Given the description of an element on the screen output the (x, y) to click on. 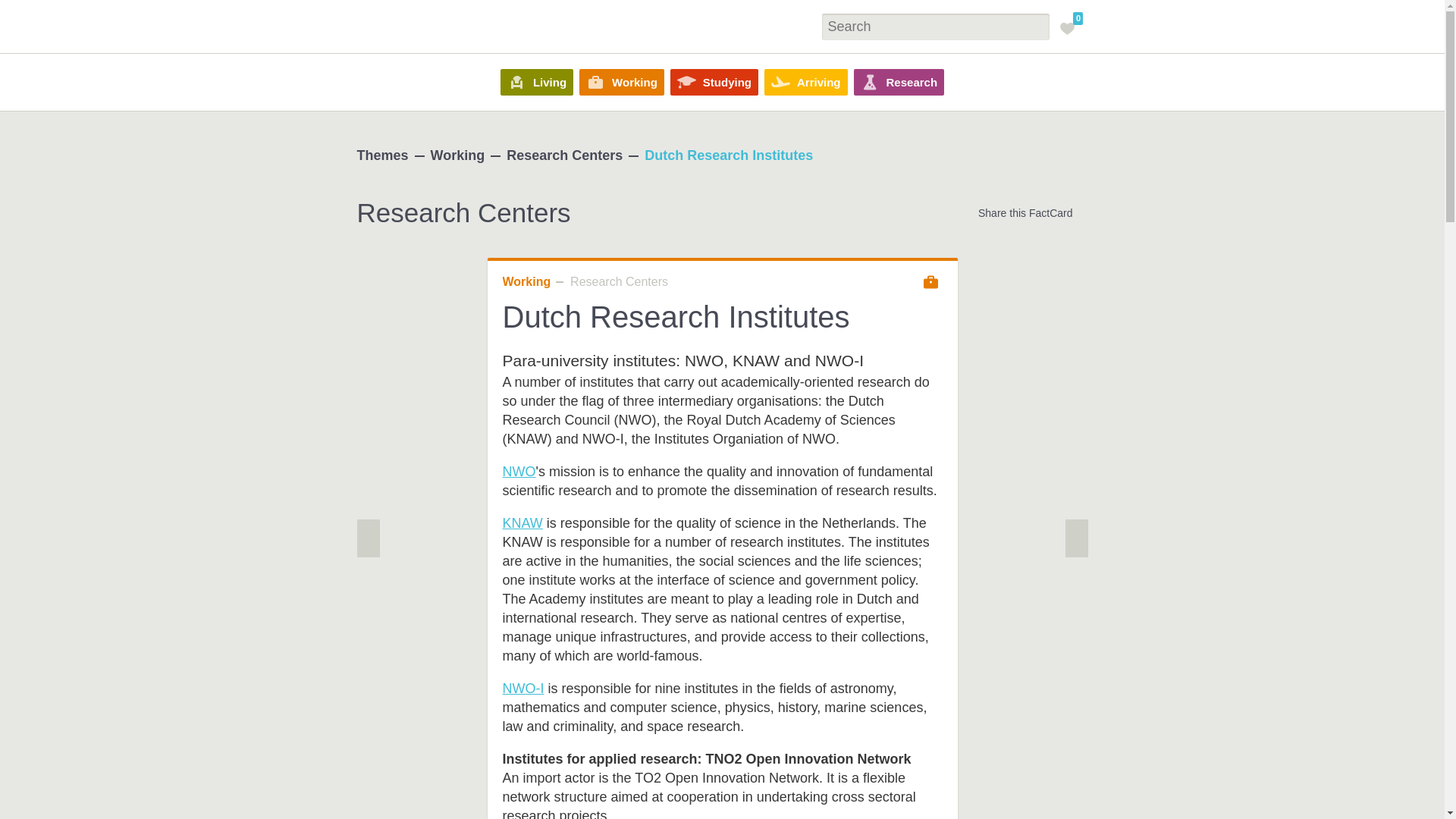
Living (536, 81)
Open in new window (518, 471)
Open in new window (522, 688)
Working (621, 81)
Studying (713, 81)
Open in new window (521, 522)
